Given the description of an element on the screen output the (x, y) to click on. 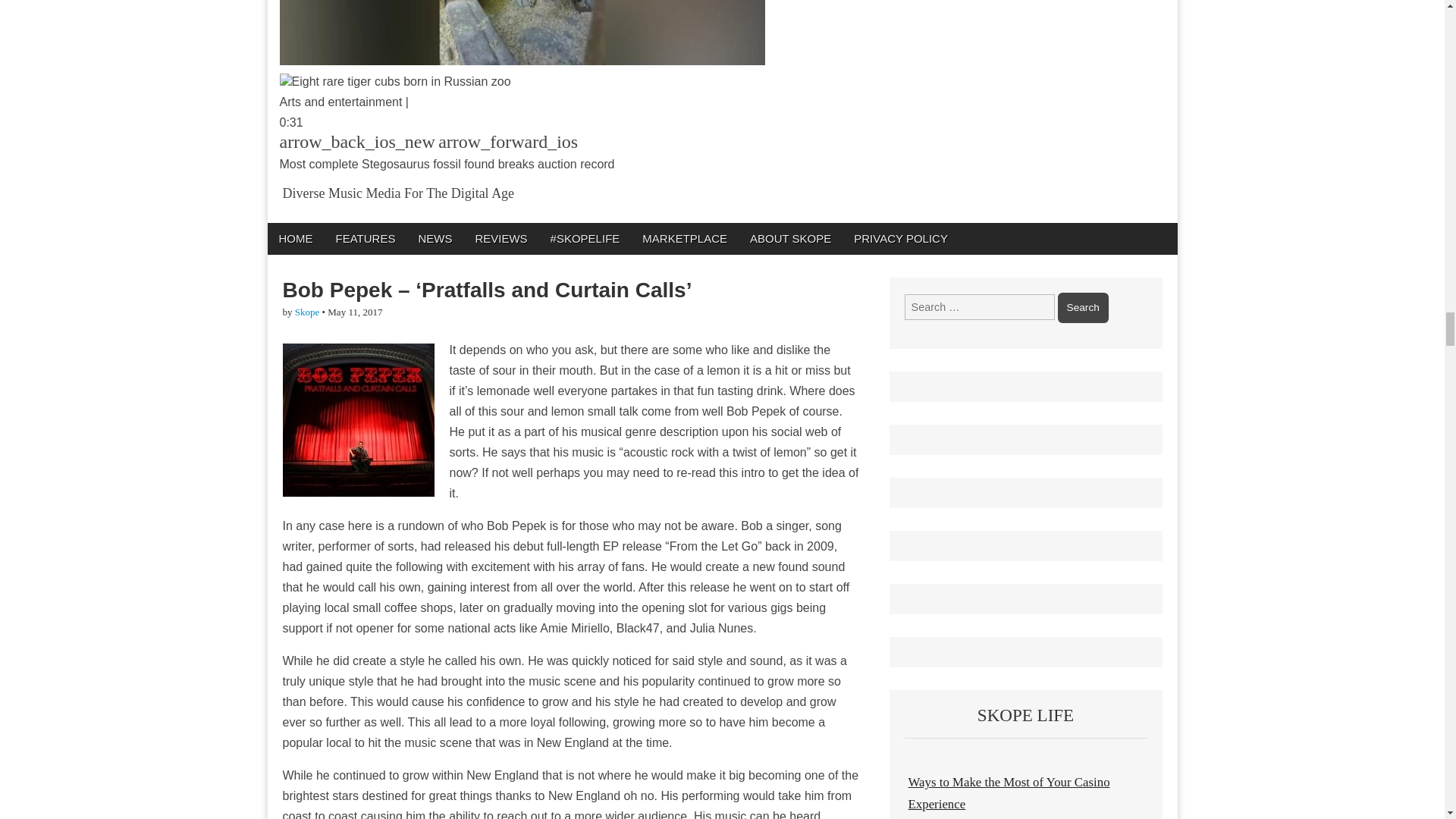
Skope (307, 311)
REVIEWS (500, 237)
HOME (294, 237)
PRIVACY POLICY (901, 237)
Search (1083, 307)
MARKETPLACE (684, 237)
Search (1083, 307)
Search (1083, 307)
ABOUT SKOPE (790, 237)
Posts by Skope (307, 311)
FEATURES (365, 237)
NEWS (434, 237)
Ways to Make the Most of Your Casino Experience (1008, 792)
